Given the description of an element on the screen output the (x, y) to click on. 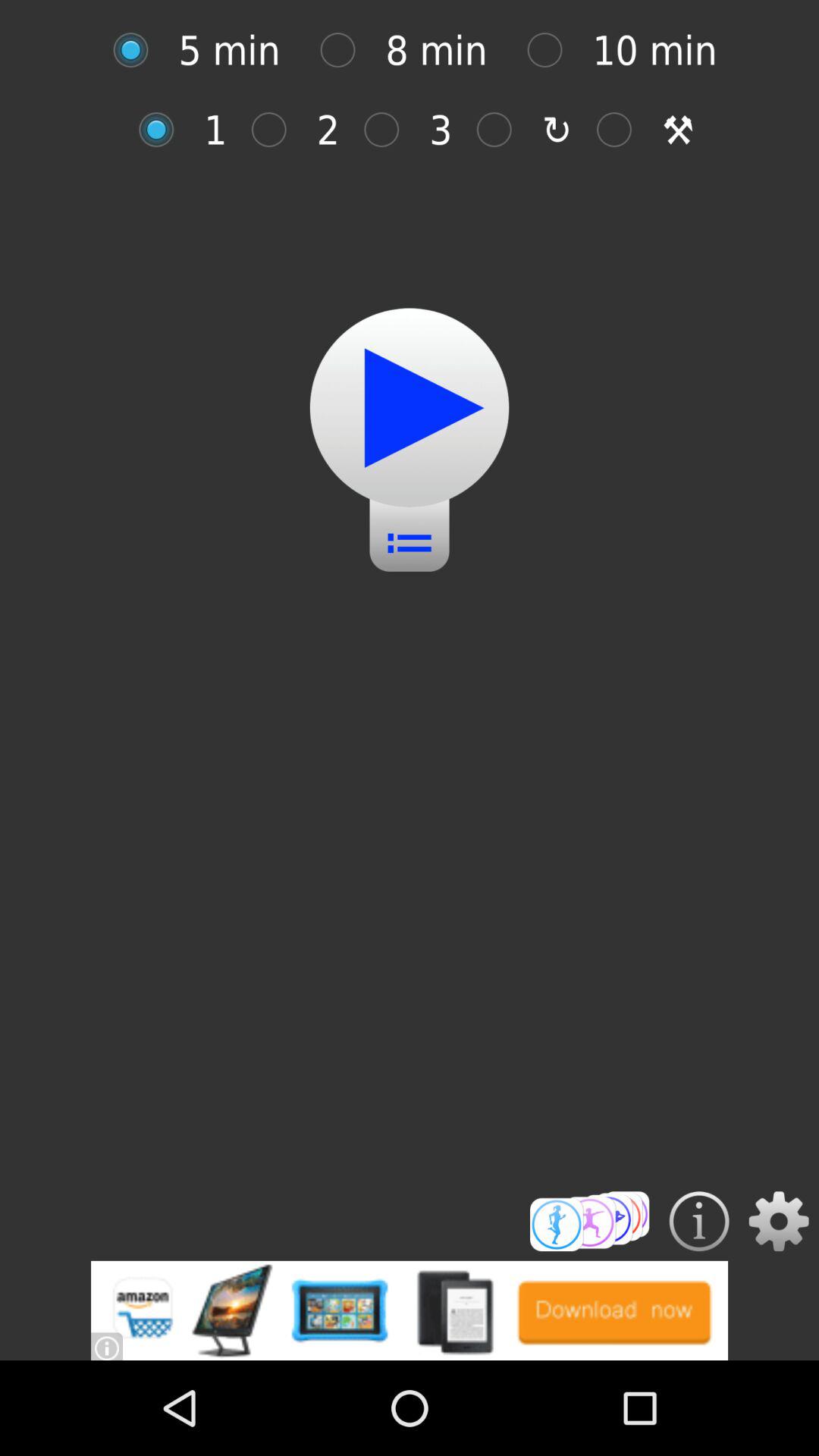
click how many you want (164, 129)
